Given the description of an element on the screen output the (x, y) to click on. 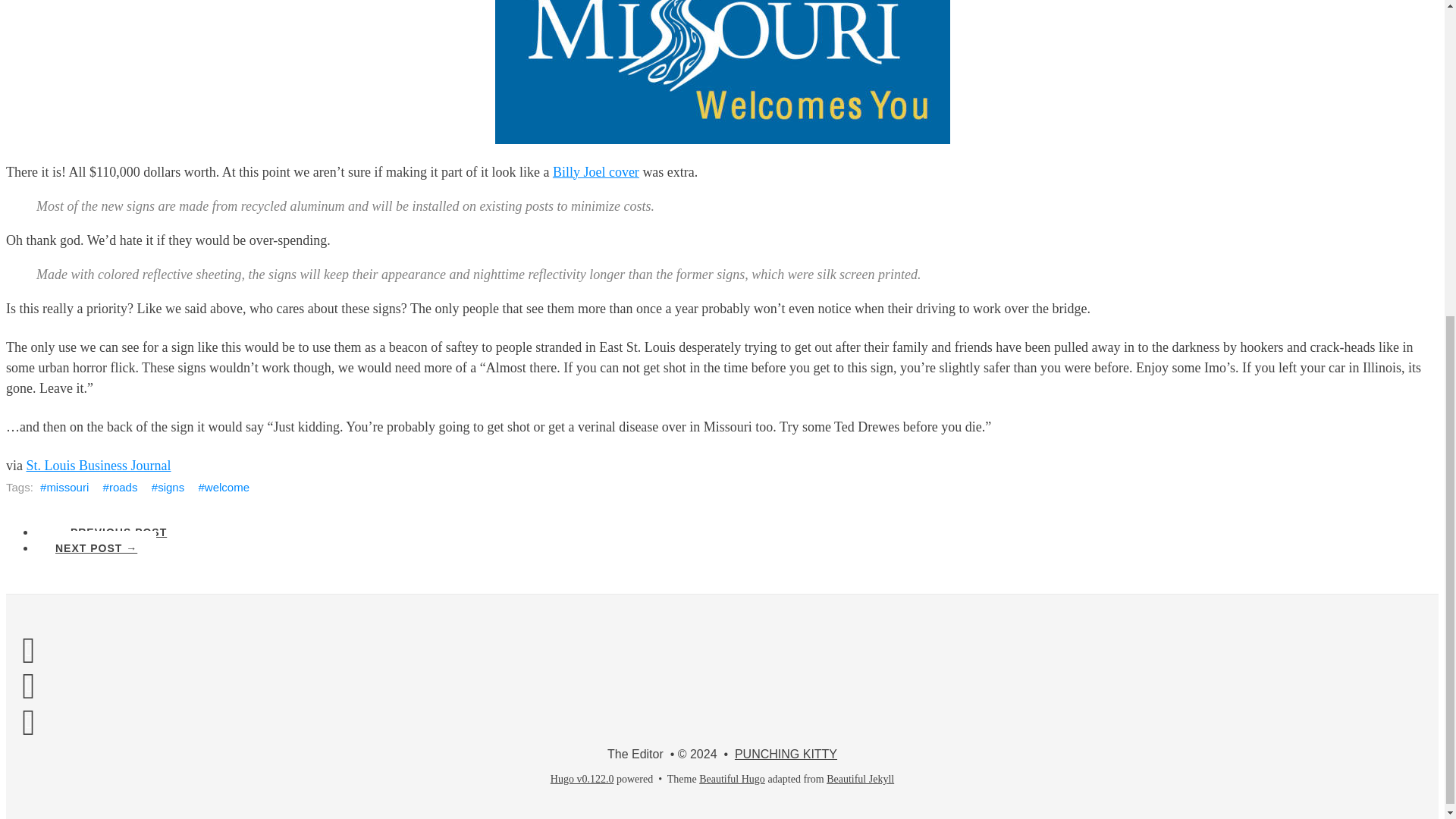
Billy Joel cover (596, 171)
Twitter (27, 685)
welcome (223, 486)
Facebook (27, 648)
Beautiful Jekyll (860, 778)
Beautiful Hugo (731, 778)
988061-600-0-1 (722, 71)
missouri (64, 486)
PUNCHING KITTY (786, 753)
Hugo v0.122.0 (582, 778)
The Internet Loves Joe Buck (95, 547)
roads (120, 486)
RSS (27, 721)
St. Louis Business Journal (98, 465)
signs (167, 486)
